Given the description of an element on the screen output the (x, y) to click on. 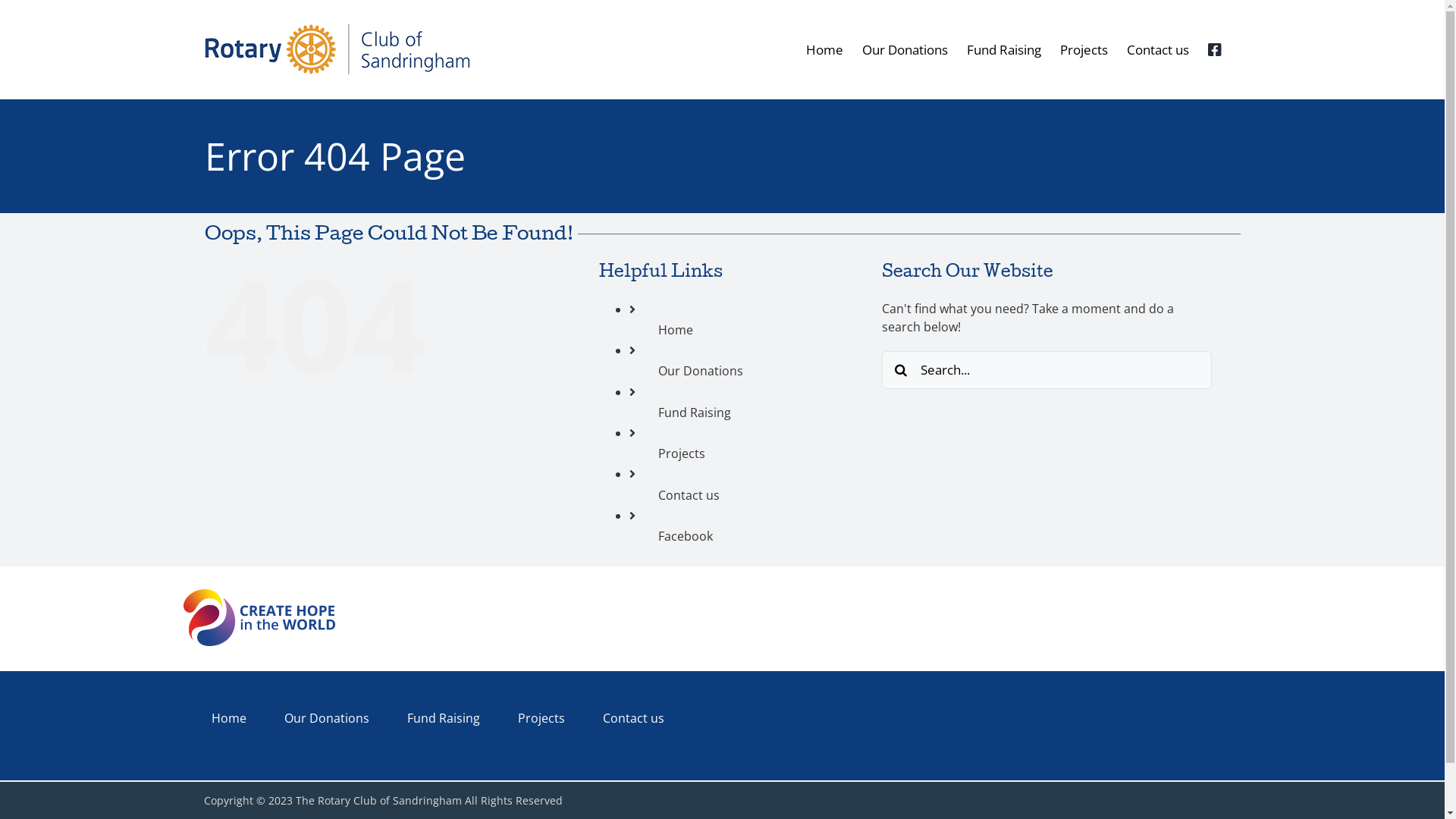
Fund Raising Element type: text (694, 412)
Contact us Element type: text (1157, 49)
Fund Raising Element type: text (443, 718)
Contact us Element type: text (633, 718)
Home Element type: text (675, 329)
Our Donations Element type: text (904, 49)
Contact us Element type: text (688, 494)
Our Donations Element type: text (700, 370)
T2324EN_Horizontal_RGB Element type: hover (259, 617)
Our Donations Element type: text (326, 718)
Projects Element type: text (1083, 49)
Projects Element type: text (681, 453)
Projects Element type: text (541, 718)
Fund Raising Element type: text (1003, 49)
Facebook Element type: text (685, 535)
Home Element type: text (823, 49)
Home Element type: text (228, 718)
